Given the description of an element on the screen output the (x, y) to click on. 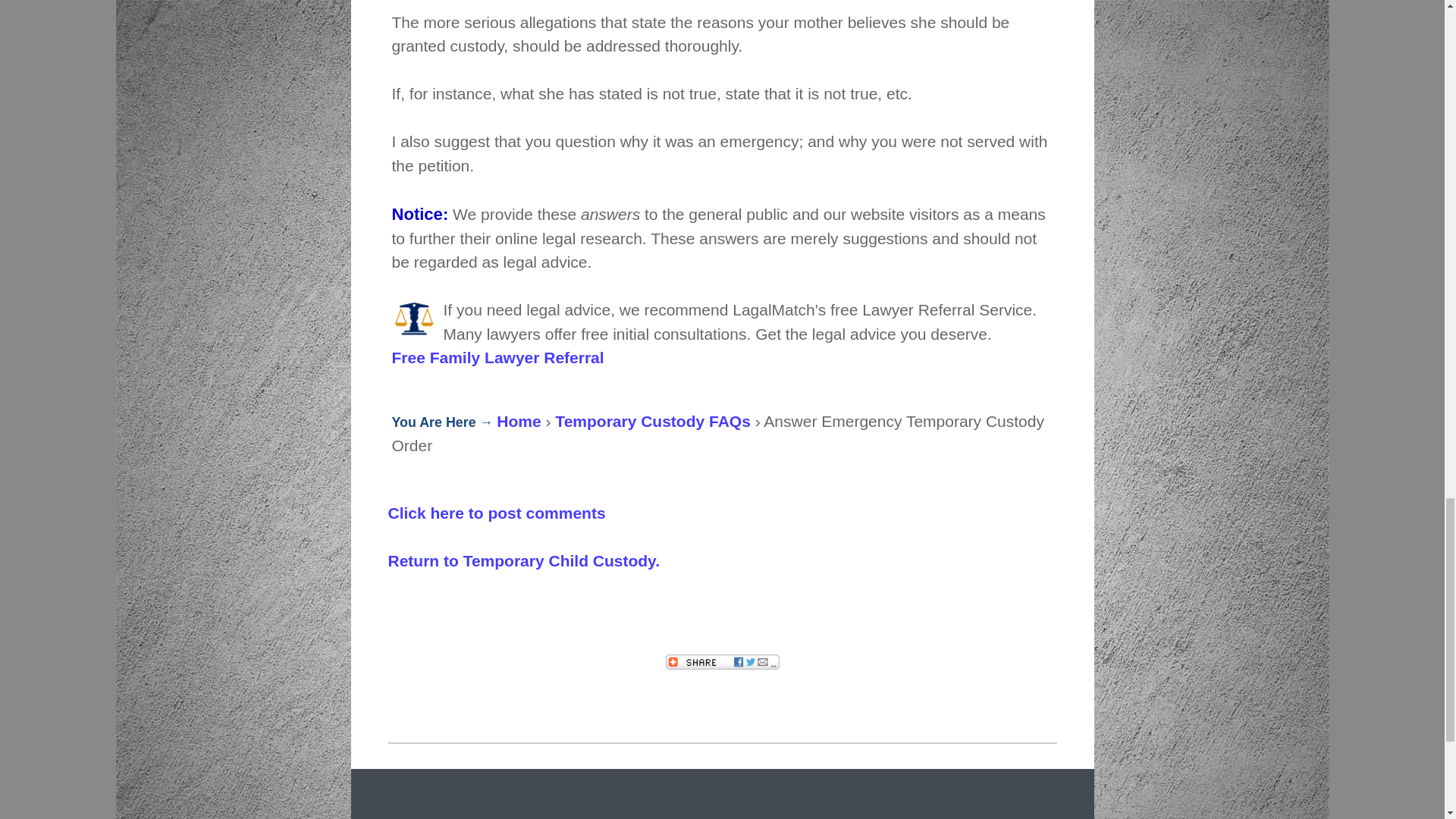
Return to Temporary Child Custody. (524, 560)
Home (518, 420)
Click here to post comments (496, 512)
Temporary Custody FAQs (652, 420)
Free Referrals to Local Attorneys (497, 357)
Free Family Lawyer Referrals (413, 320)
Free Family Lawyer Referral (497, 357)
